Given the description of an element on the screen output the (x, y) to click on. 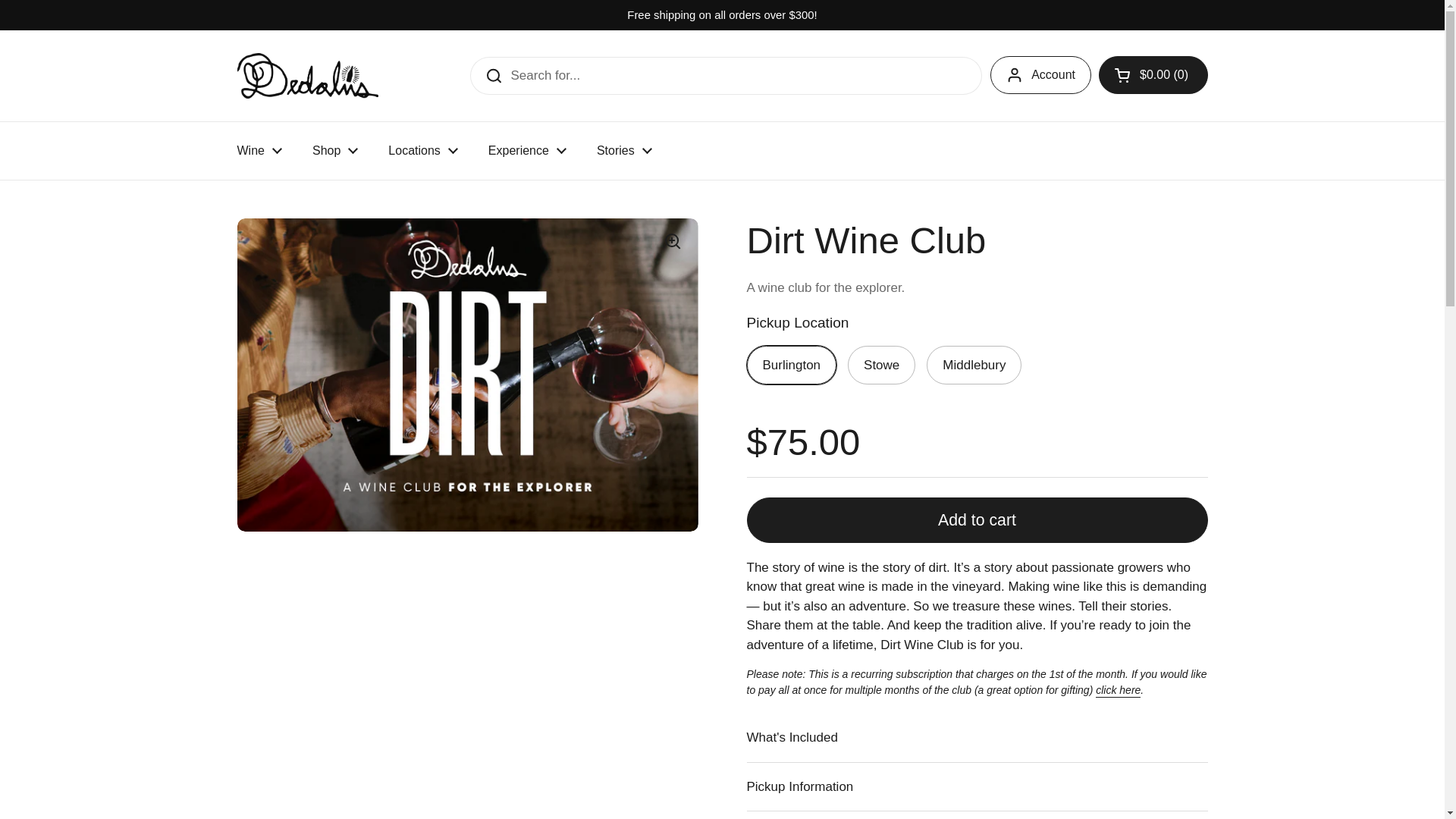
Wine (259, 150)
Open cart (1153, 75)
Dedalus Wine Shop (306, 75)
Account (1040, 75)
